Given the description of an element on the screen output the (x, y) to click on. 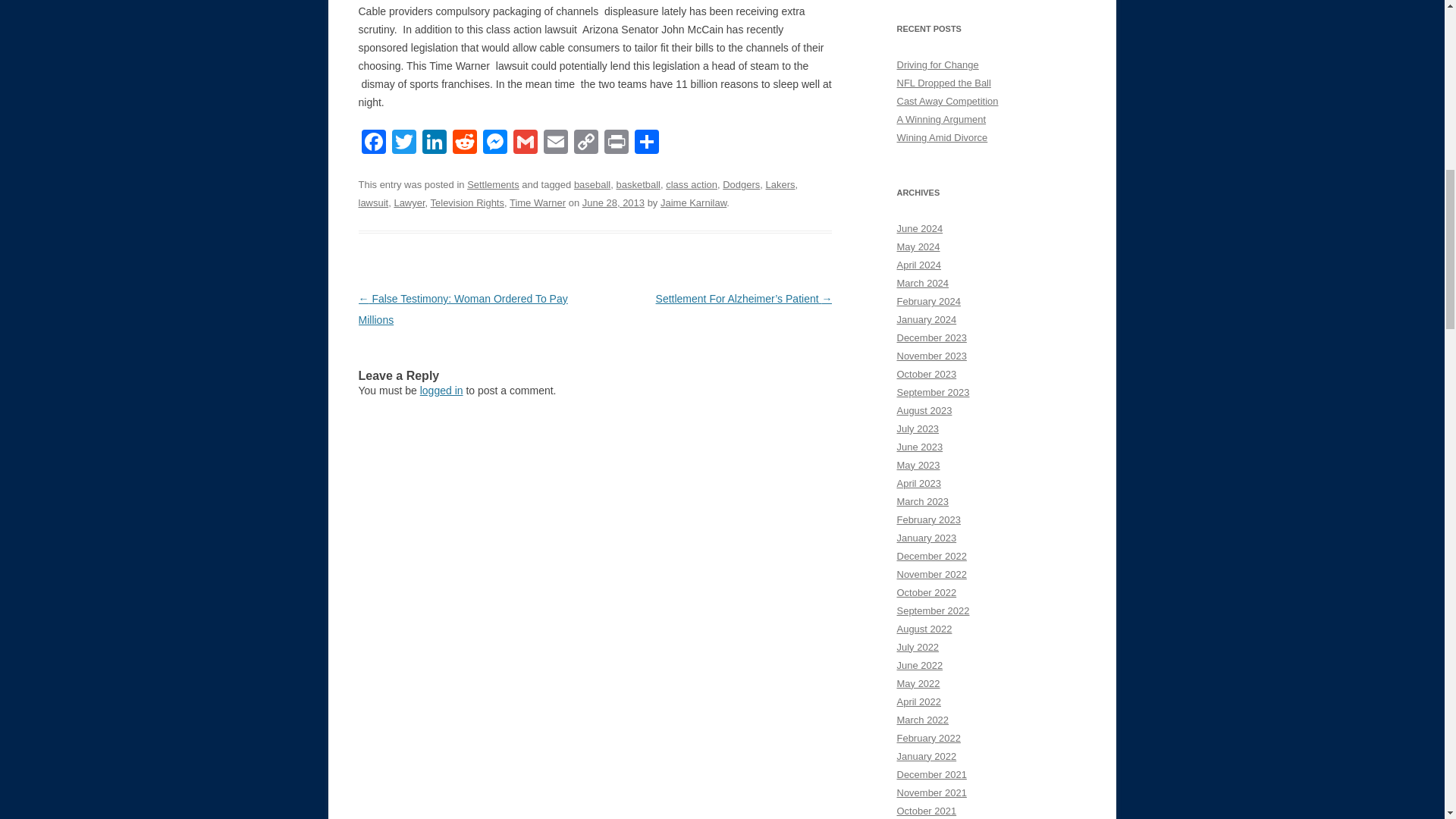
Facebook (373, 143)
June 28, 2013 (613, 202)
Reddit (463, 143)
Messenger (494, 143)
3:43 pm (613, 202)
Gmail (524, 143)
View all posts by Jaime Karnilaw (693, 202)
logged in (441, 390)
Print (614, 143)
Email (555, 143)
Facebook (373, 143)
Email (555, 143)
basketball (637, 184)
Twitter (403, 143)
Lakers (779, 184)
